Given the description of an element on the screen output the (x, y) to click on. 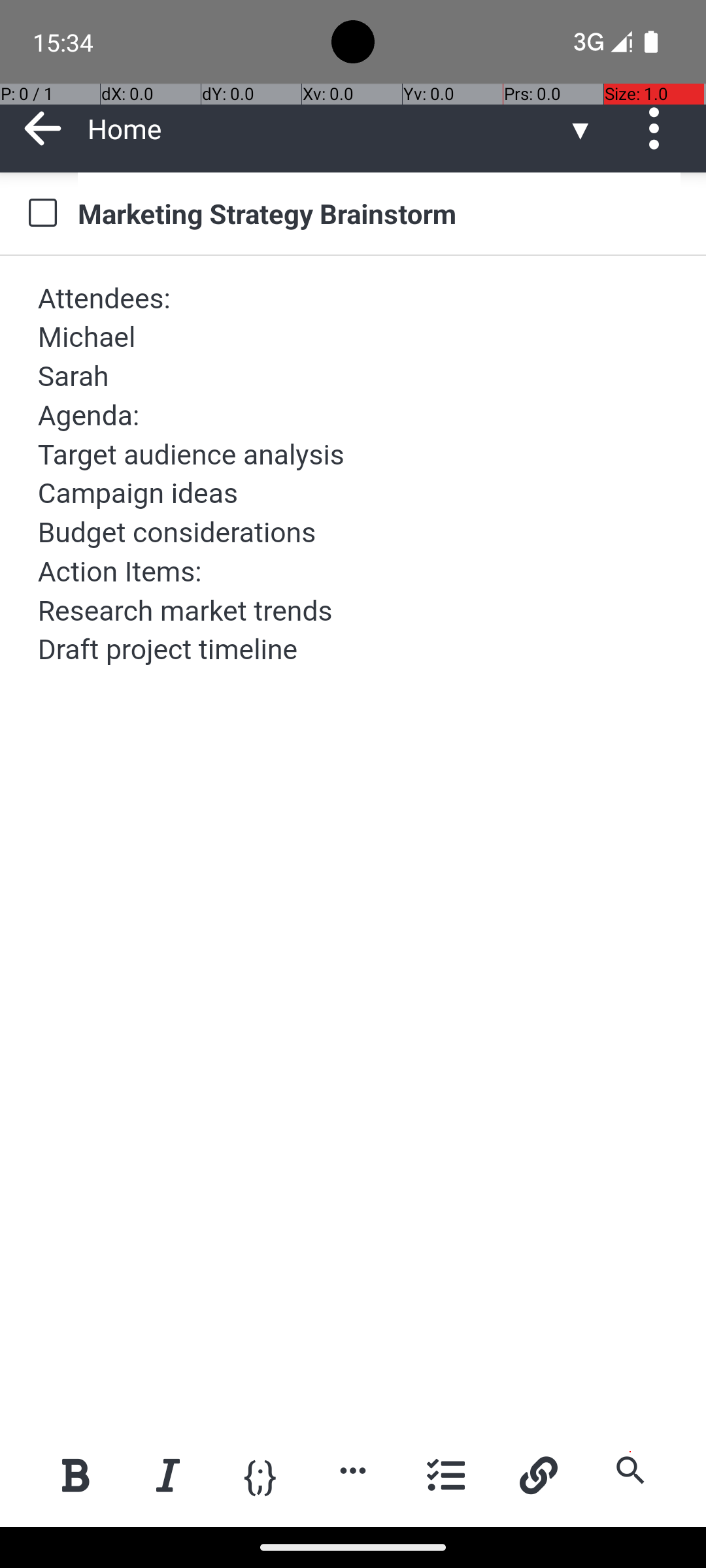
Attendees:
Michael
Sarah
Agenda:
Target audience analysis
Campaign ideas
Budget considerations
Action Items:
Research market trends
Draft project timeline Element type: android.widget.EditText (354, 474)
